Given the description of an element on the screen output the (x, y) to click on. 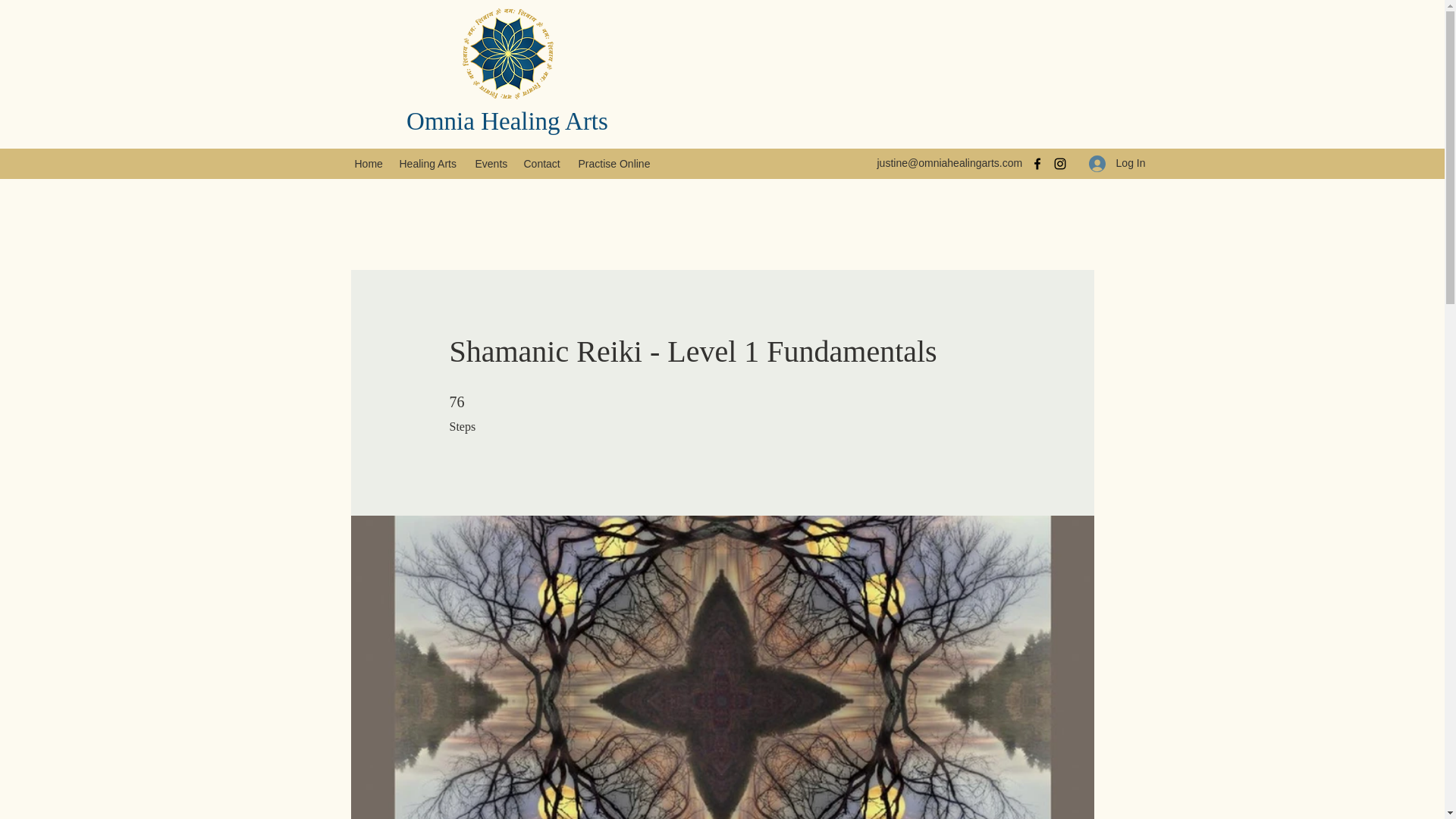
Home (369, 163)
Healing Arts (429, 163)
Log In (1117, 163)
Events (491, 163)
Practise Online (615, 163)
Contact (542, 163)
